Given the description of an element on the screen output the (x, y) to click on. 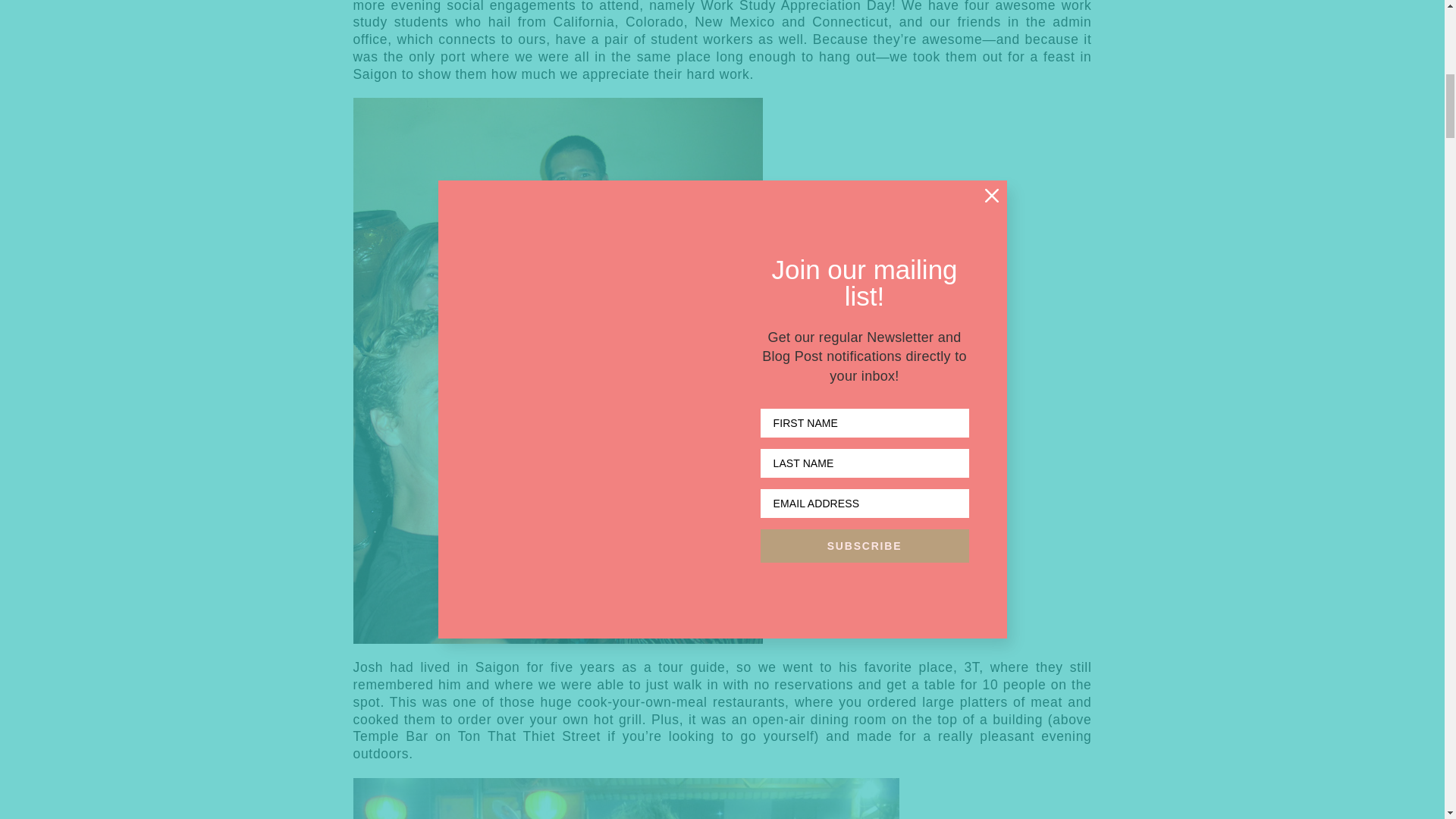
Dining, Ho Chi Minh, Vietnam (626, 798)
